Given the description of an element on the screen output the (x, y) to click on. 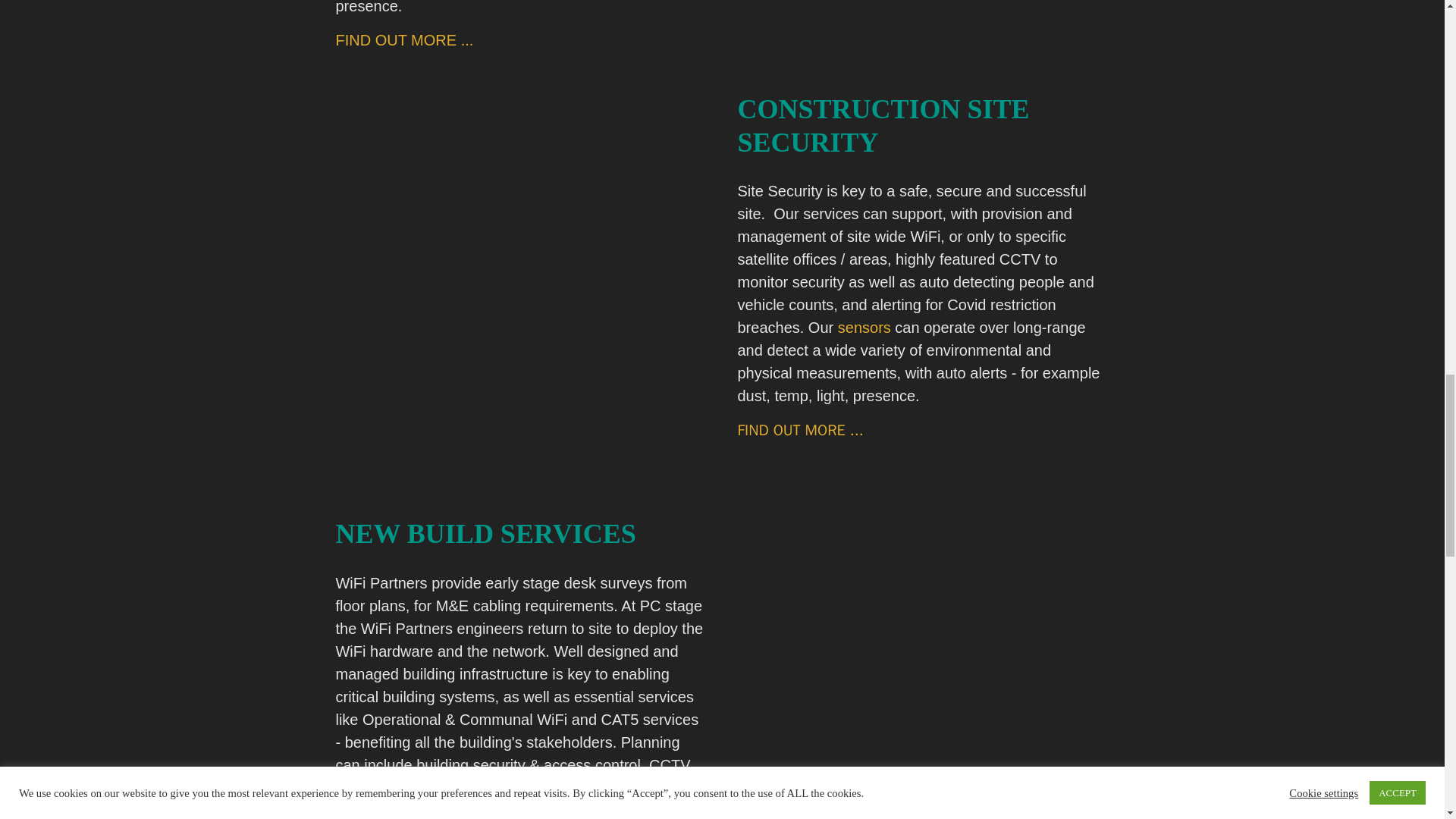
FIND OUT MORE ... (403, 39)
FIND OUT MORE ... (397, 816)
sensors (864, 327)
qtq80-dlKApG (922, 668)
FIND OUT MORE ... (799, 429)
